Given the description of an element on the screen output the (x, y) to click on. 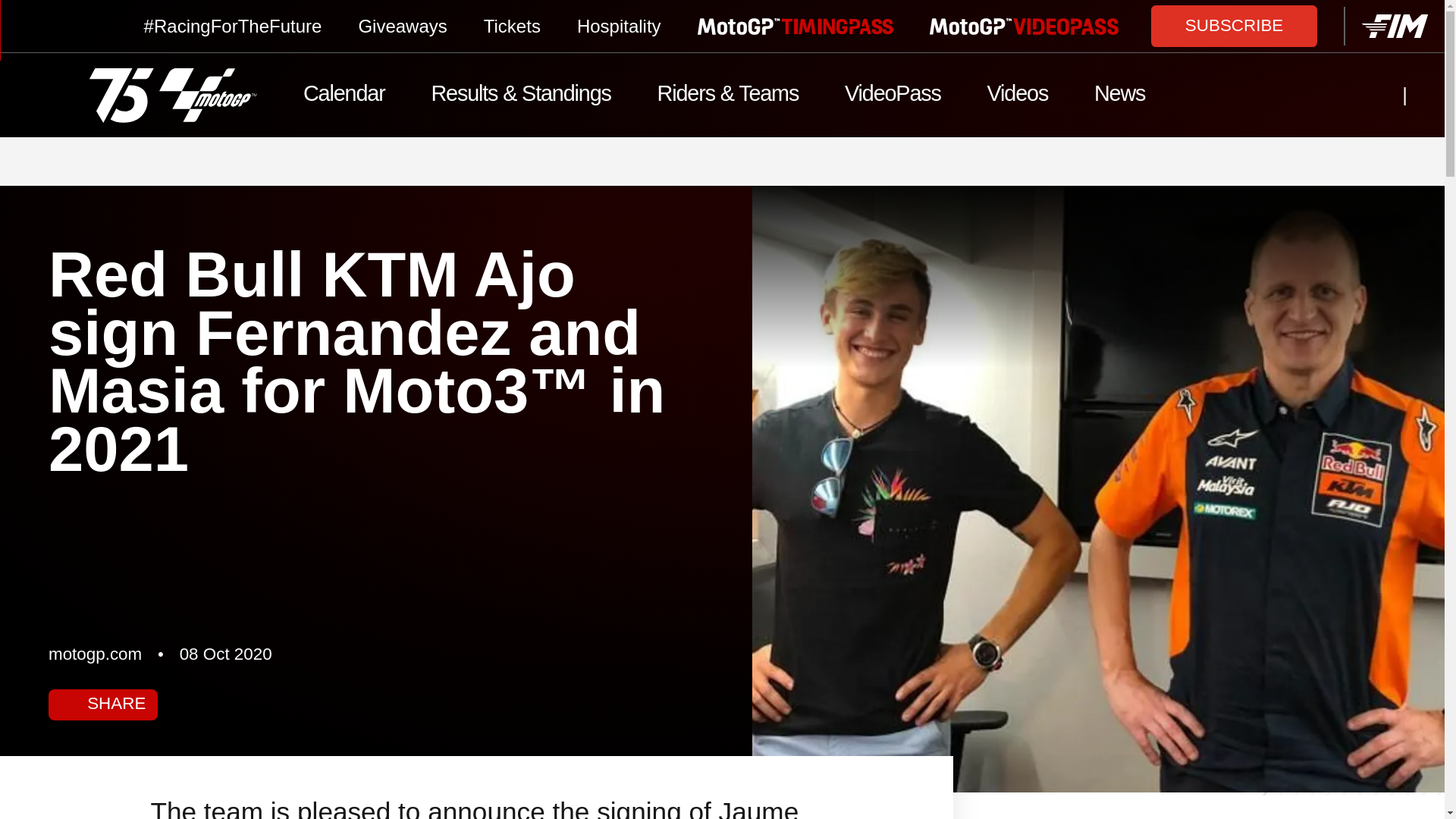
SUBSCRIBE (1234, 24)
Tickets (511, 26)
VideoPass (893, 94)
News (1119, 94)
Videos (1016, 94)
Calendar (343, 94)
Giveaways (402, 26)
Hospitality (618, 26)
